Given the description of an element on the screen output the (x, y) to click on. 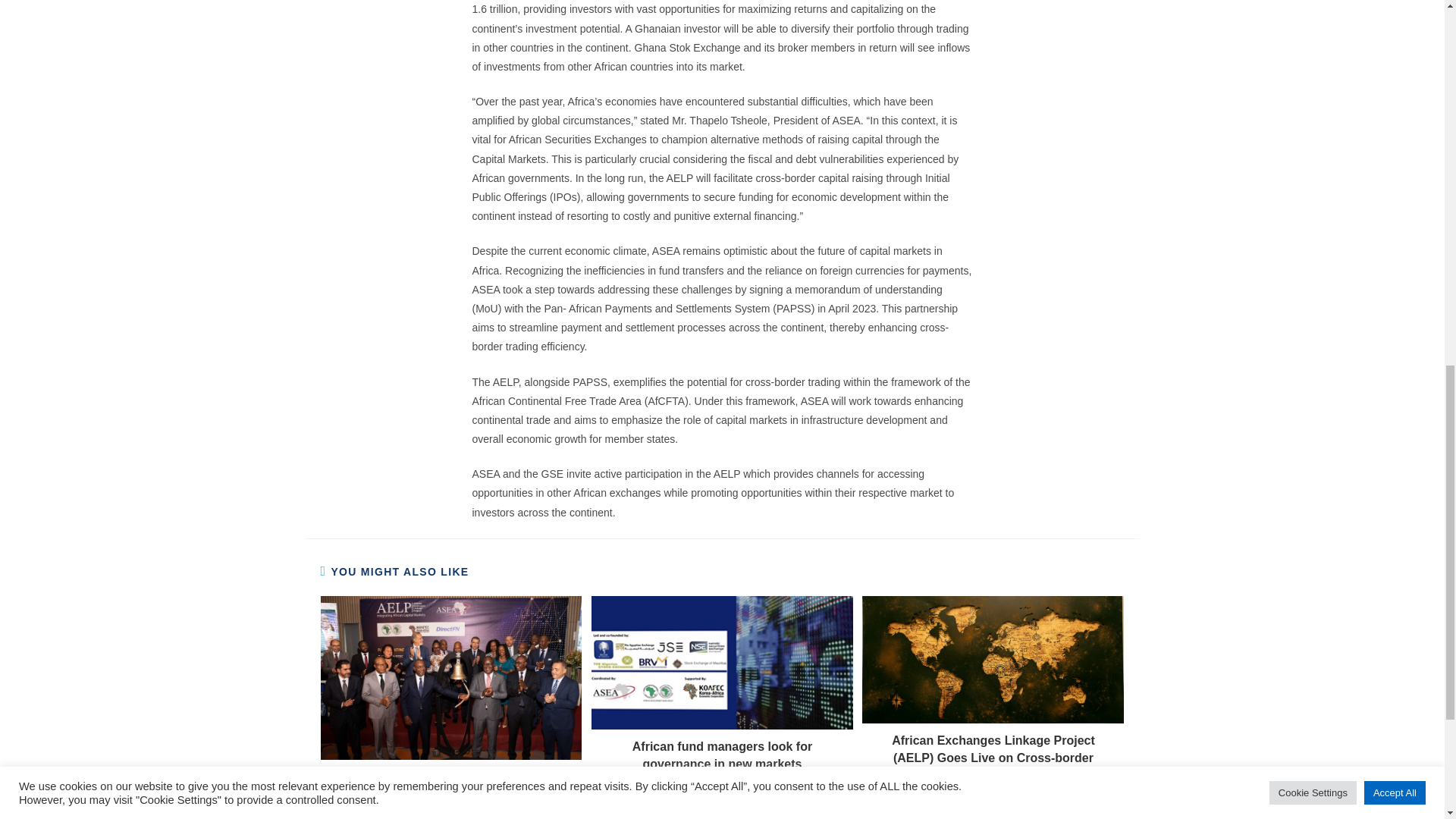
African fund managers look for governance in new markets (721, 755)
African fund managers look for governance in new markets (721, 755)
